Given the description of an element on the screen output the (x, y) to click on. 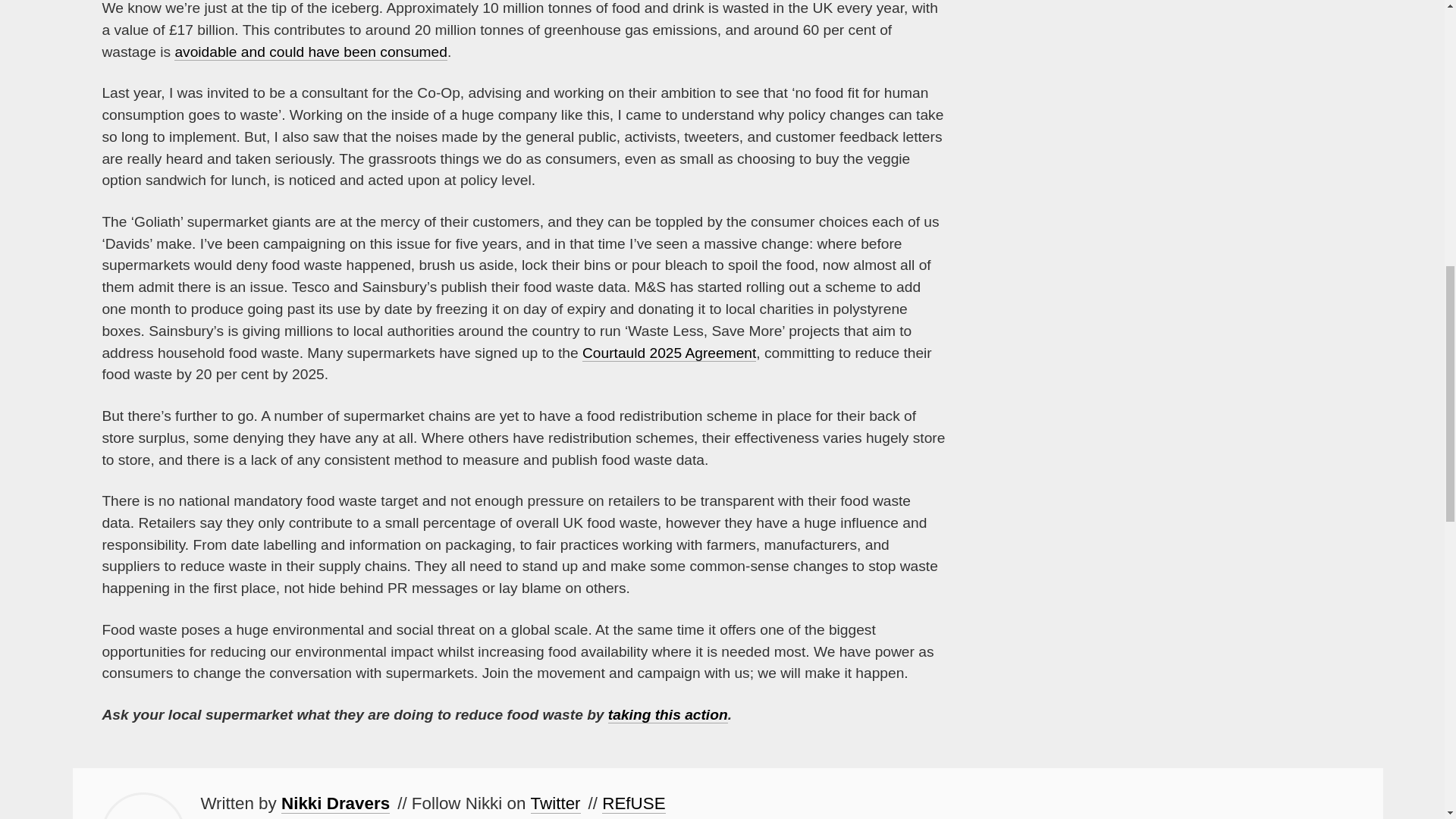
REfUSE (633, 803)
taking this action (668, 714)
Twitter (555, 803)
Avatar for Nikki Dravers (142, 805)
Nikki Dravers (335, 803)
Courtauld 2025 Agreement (668, 352)
avoidable and could have been consumed (310, 52)
